Given the description of an element on the screen output the (x, y) to click on. 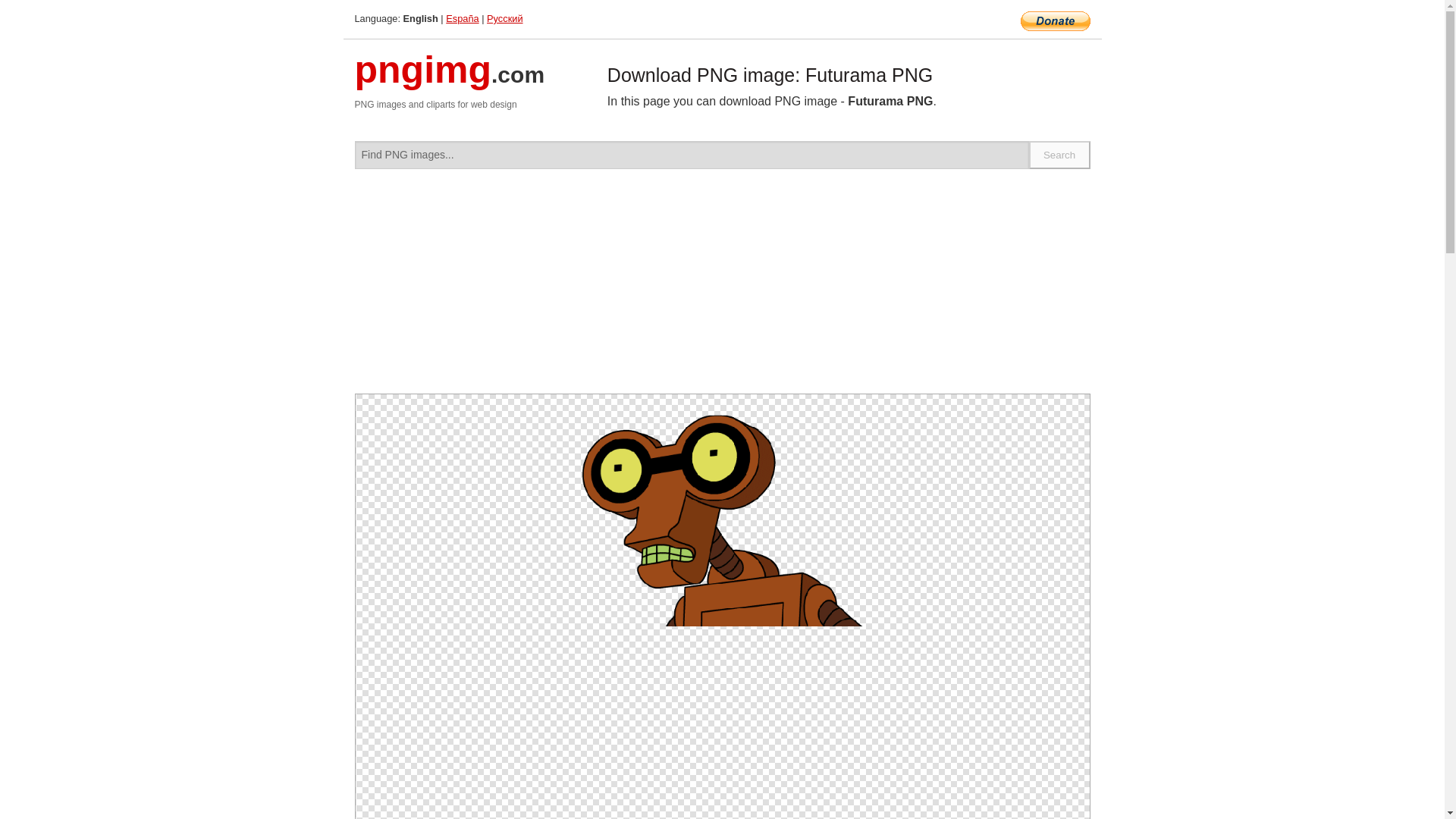
Futurama PNG (721, 518)
Search (1059, 154)
pngimg.com (449, 78)
Search (1059, 154)
